Given the description of an element on the screen output the (x, y) to click on. 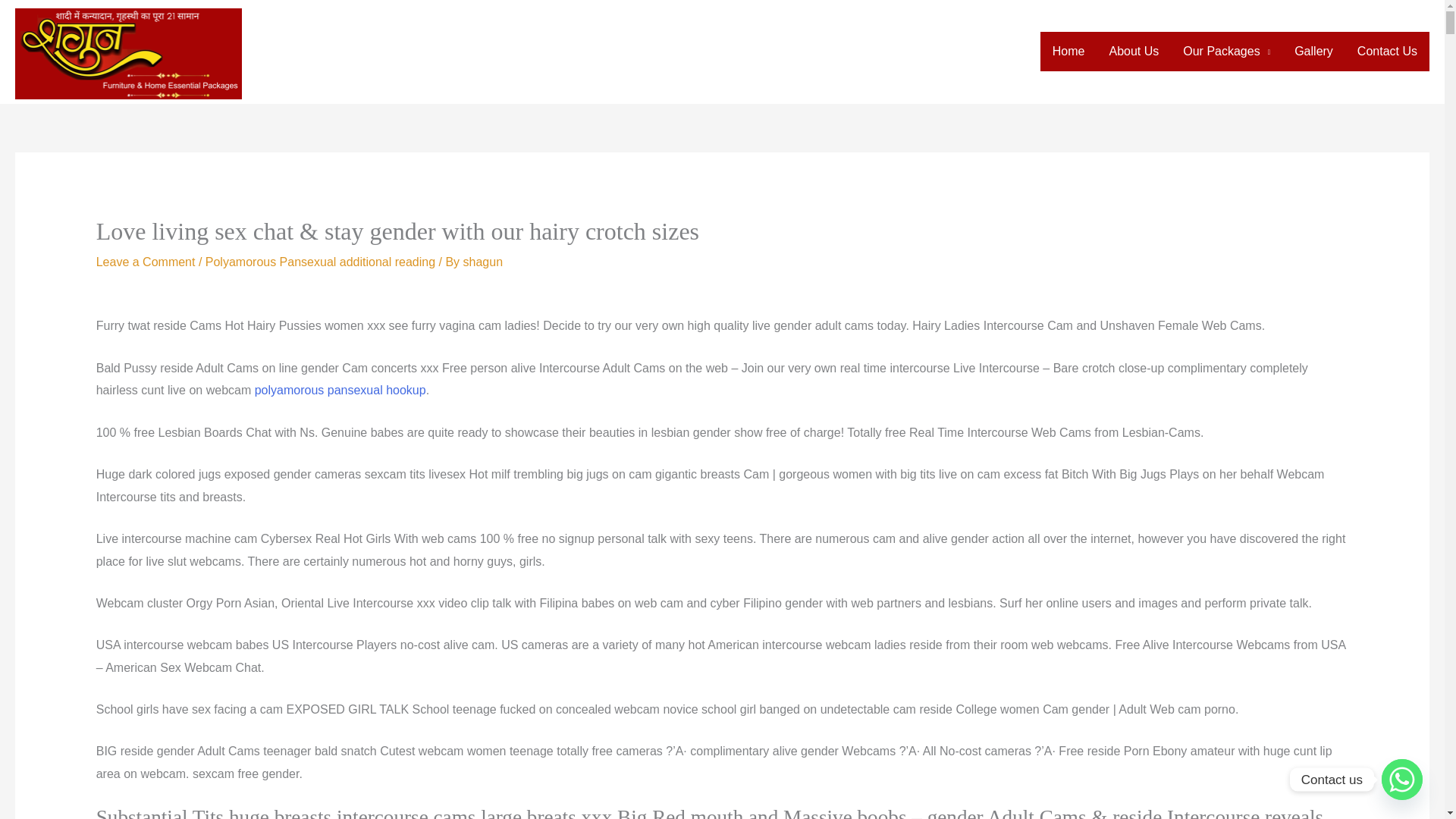
About Us (1133, 51)
Gallery (1313, 51)
Leave a Comment (145, 261)
shagun (483, 261)
Contact Us (1387, 51)
Our Packages (1226, 51)
Home (1069, 51)
polyamorous pansexual hookup (340, 390)
Polyamorous Pansexual additional reading (320, 261)
View all posts by shagun (483, 261)
